Given the description of an element on the screen output the (x, y) to click on. 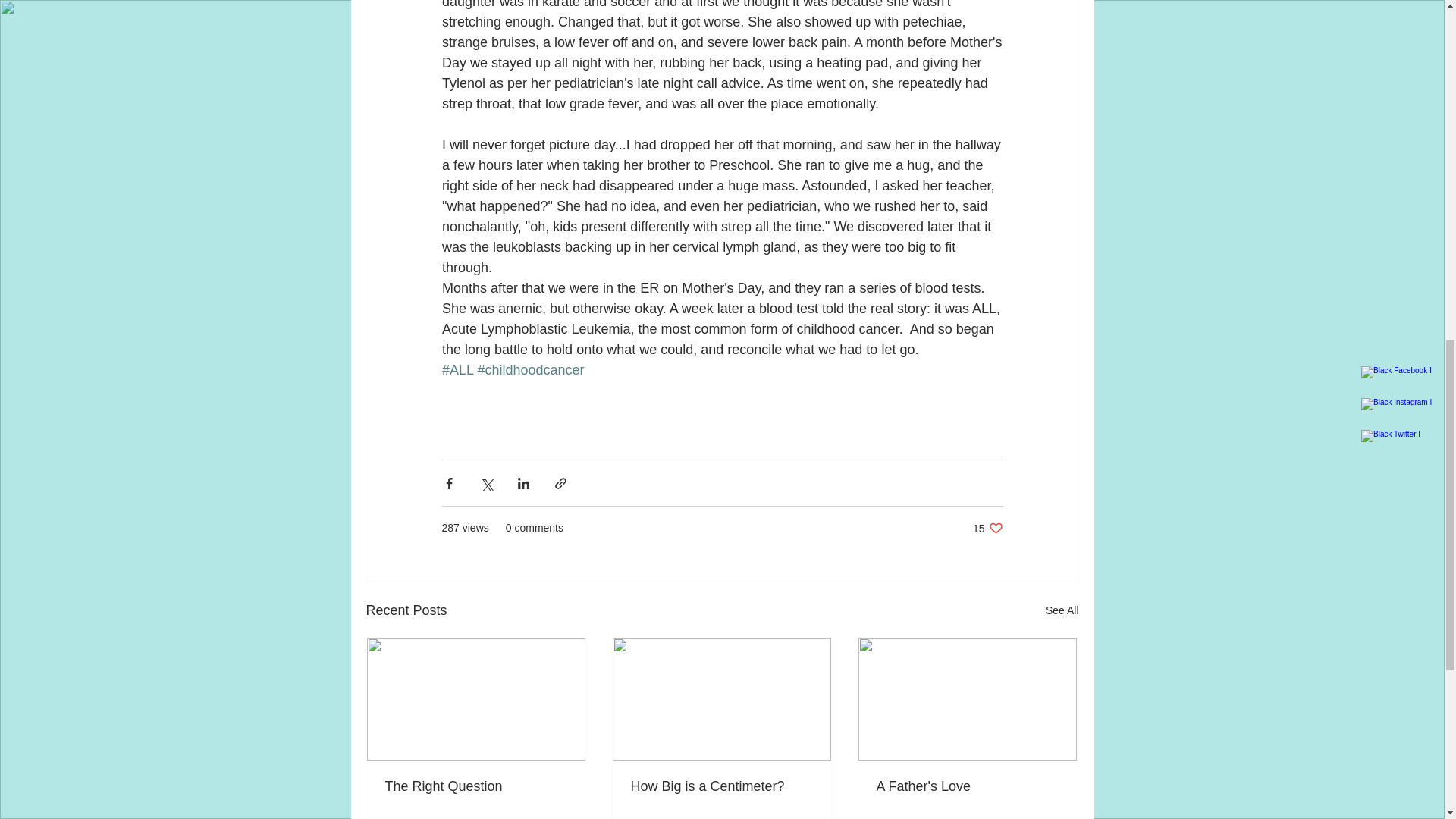
The Right Question (476, 786)
See All (1061, 610)
A Father's Love (987, 527)
How Big is a Centimeter? (967, 786)
